Given the description of an element on the screen output the (x, y) to click on. 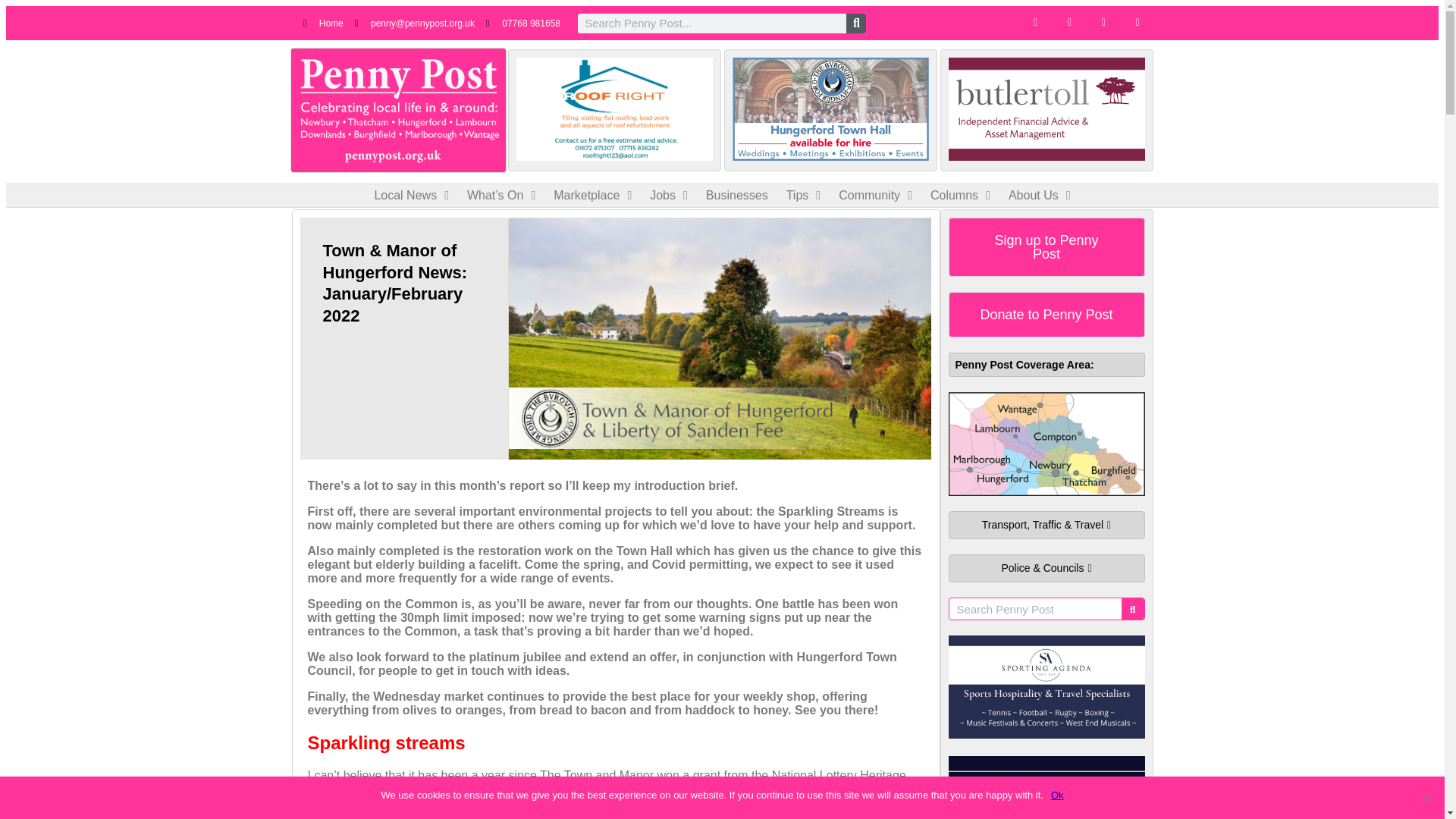
Local News (411, 195)
Marketplace (592, 195)
Home (322, 23)
